Given the description of an element on the screen output the (x, y) to click on. 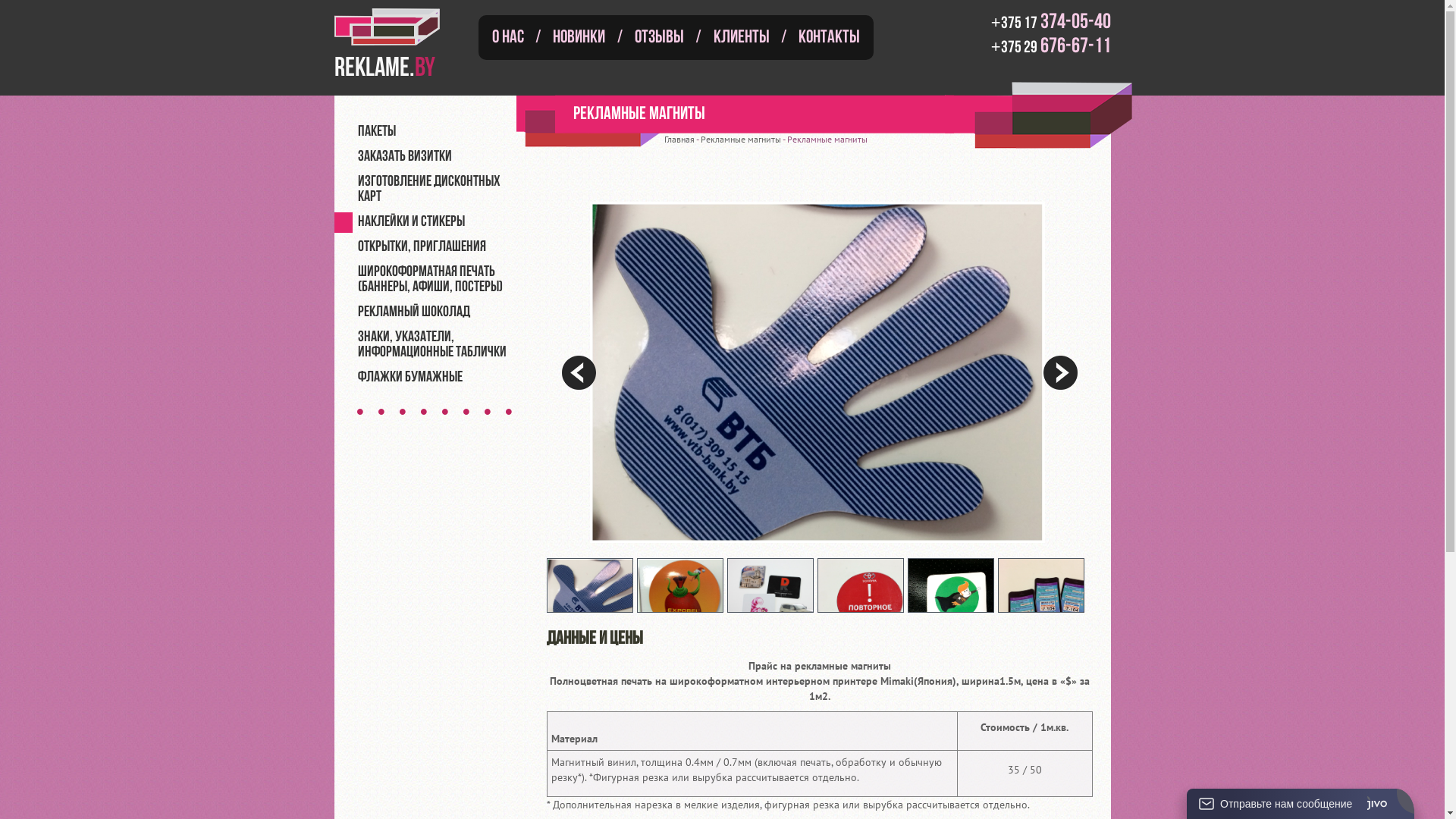
REKLAME.BY Element type: text (397, 41)
